Given the description of an element on the screen output the (x, y) to click on. 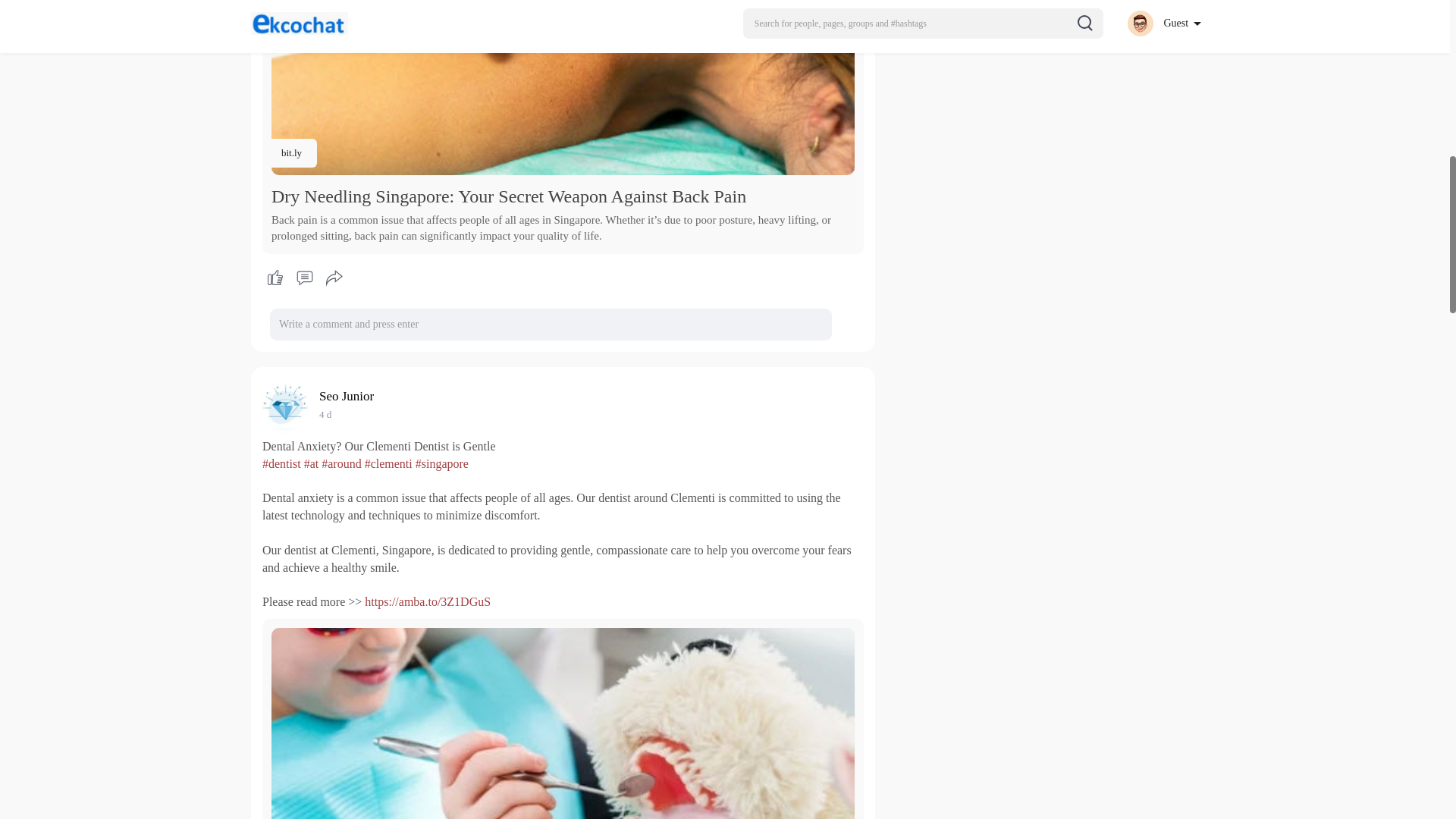
4 d (324, 414)
Seo Junior (348, 396)
Share (334, 278)
Comments (304, 278)
